Given the description of an element on the screen output the (x, y) to click on. 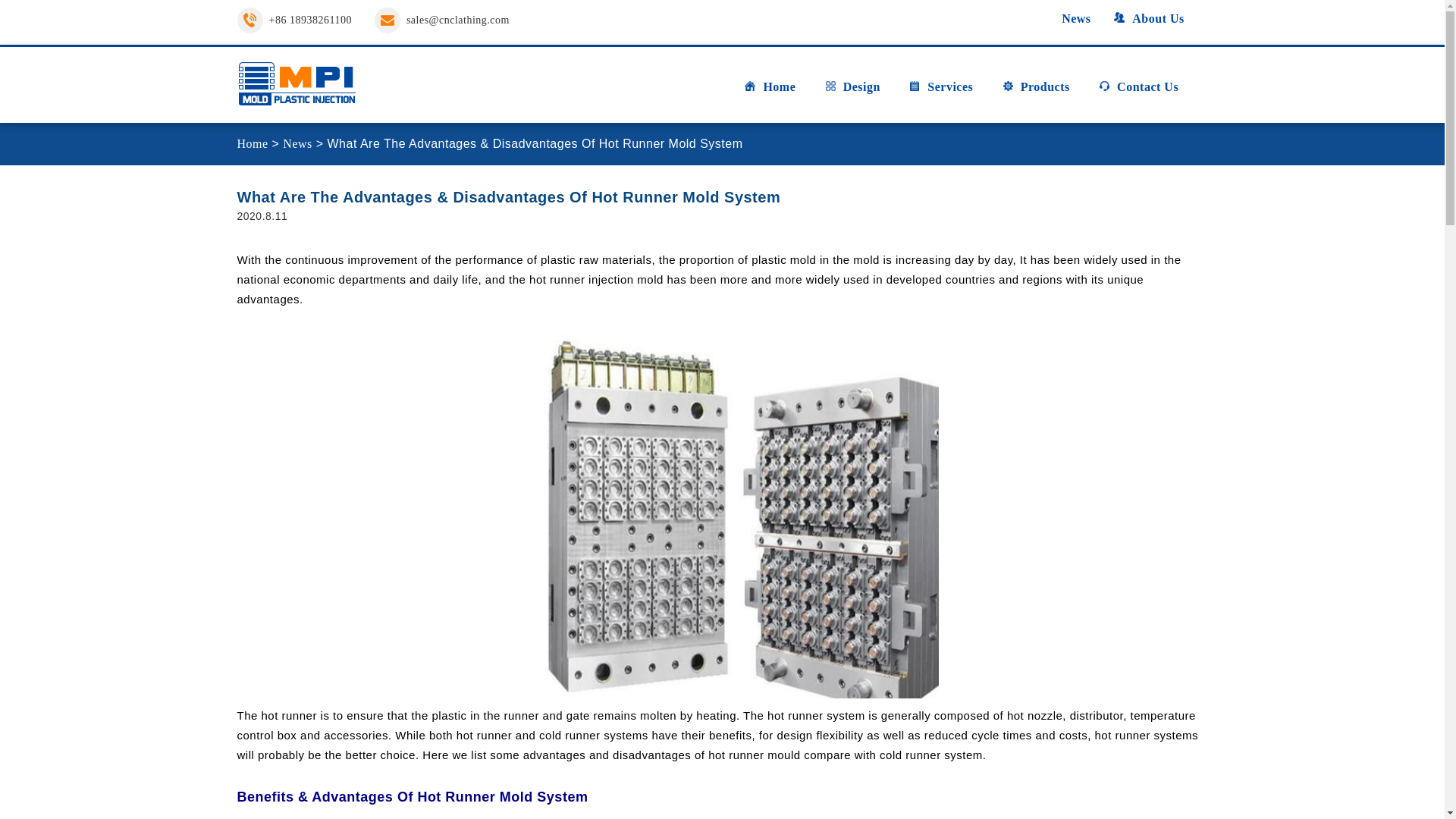
Home (769, 92)
Go to the News category archives. (296, 143)
News (1066, 18)
Design (852, 92)
Services (940, 92)
Contact Us (1138, 92)
About Us (1148, 18)
Products (1036, 92)
